Given the description of an element on the screen output the (x, y) to click on. 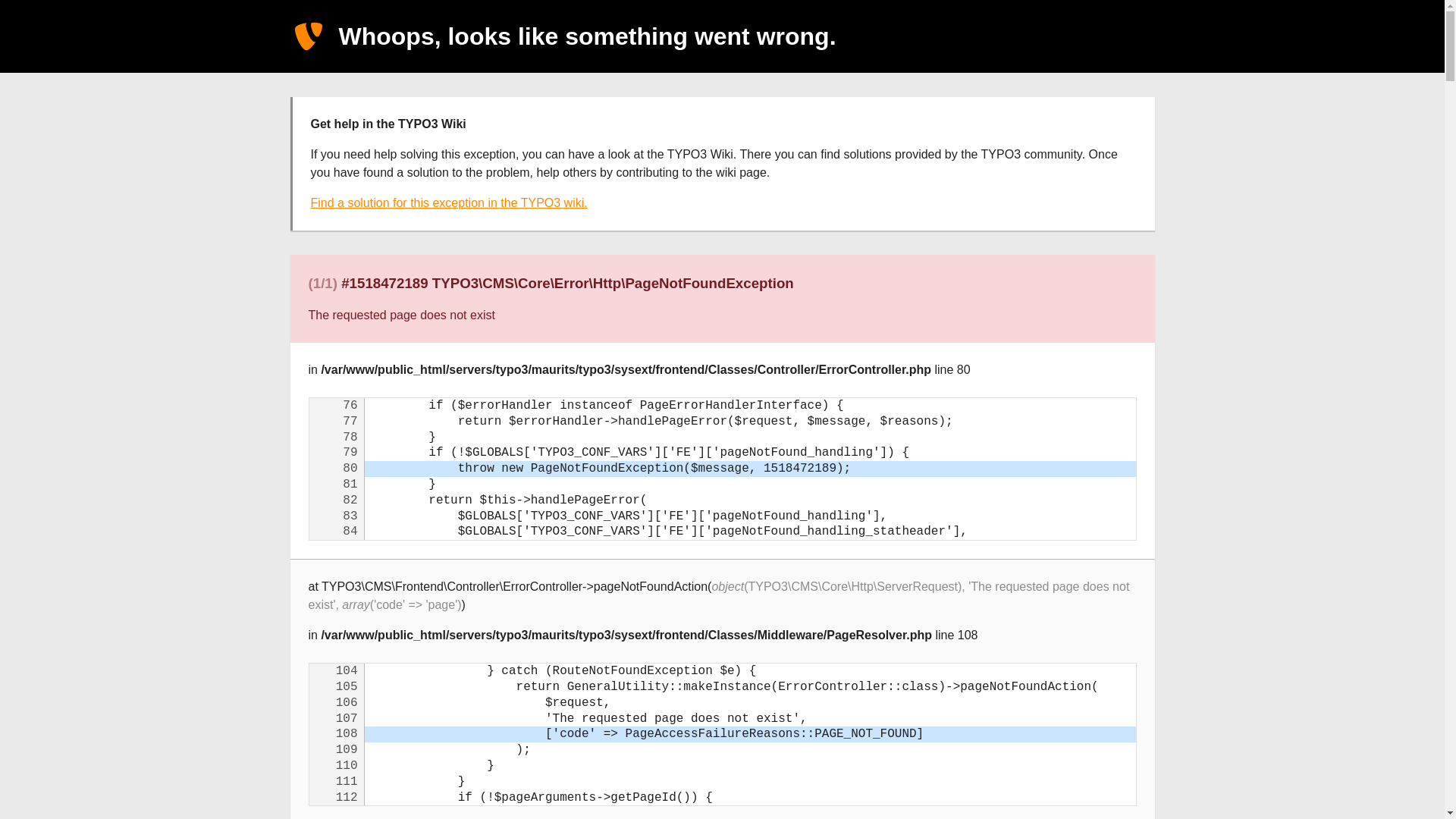
Find a solution for this exception in the TYPO3 wiki. Element type: text (448, 202)
